Given the description of an element on the screen output the (x, y) to click on. 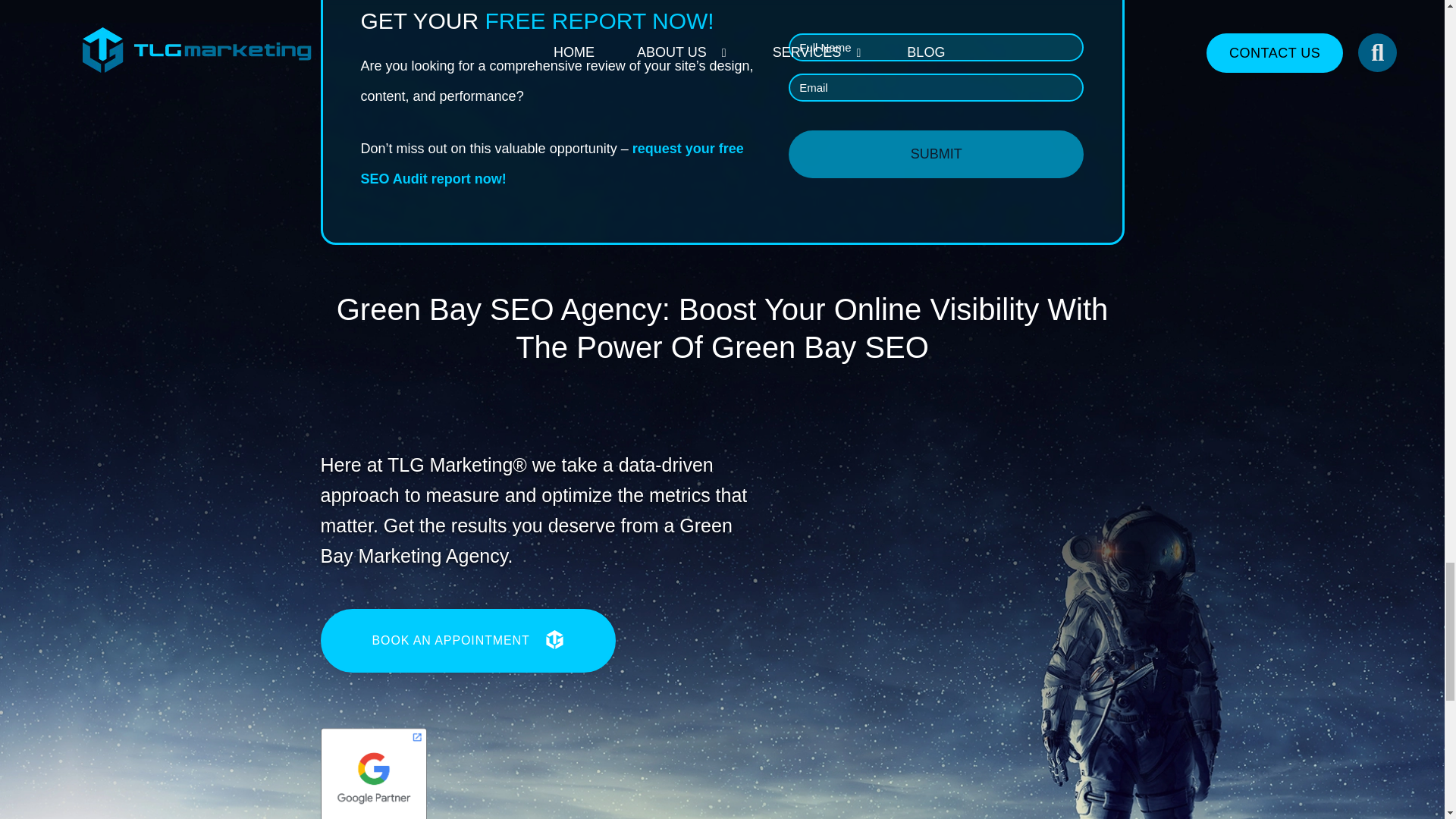
Submit (936, 154)
